Given the description of an element on the screen output the (x, y) to click on. 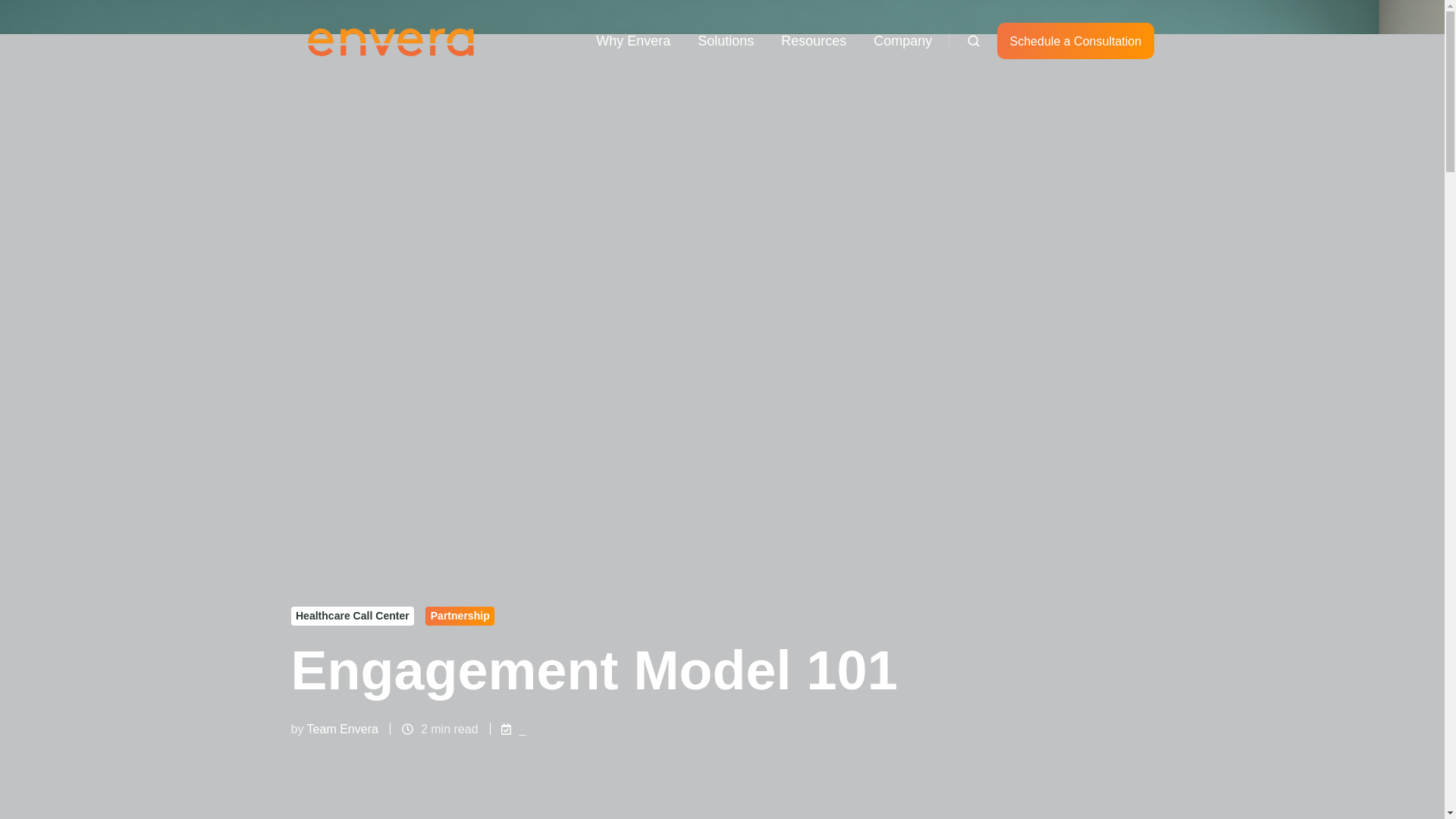
Solutions (725, 40)
Why Envera (632, 40)
Schedule a Consultation (1075, 40)
envera (392, 40)
Resources (812, 40)
Company (902, 40)
